Given the description of an element on the screen output the (x, y) to click on. 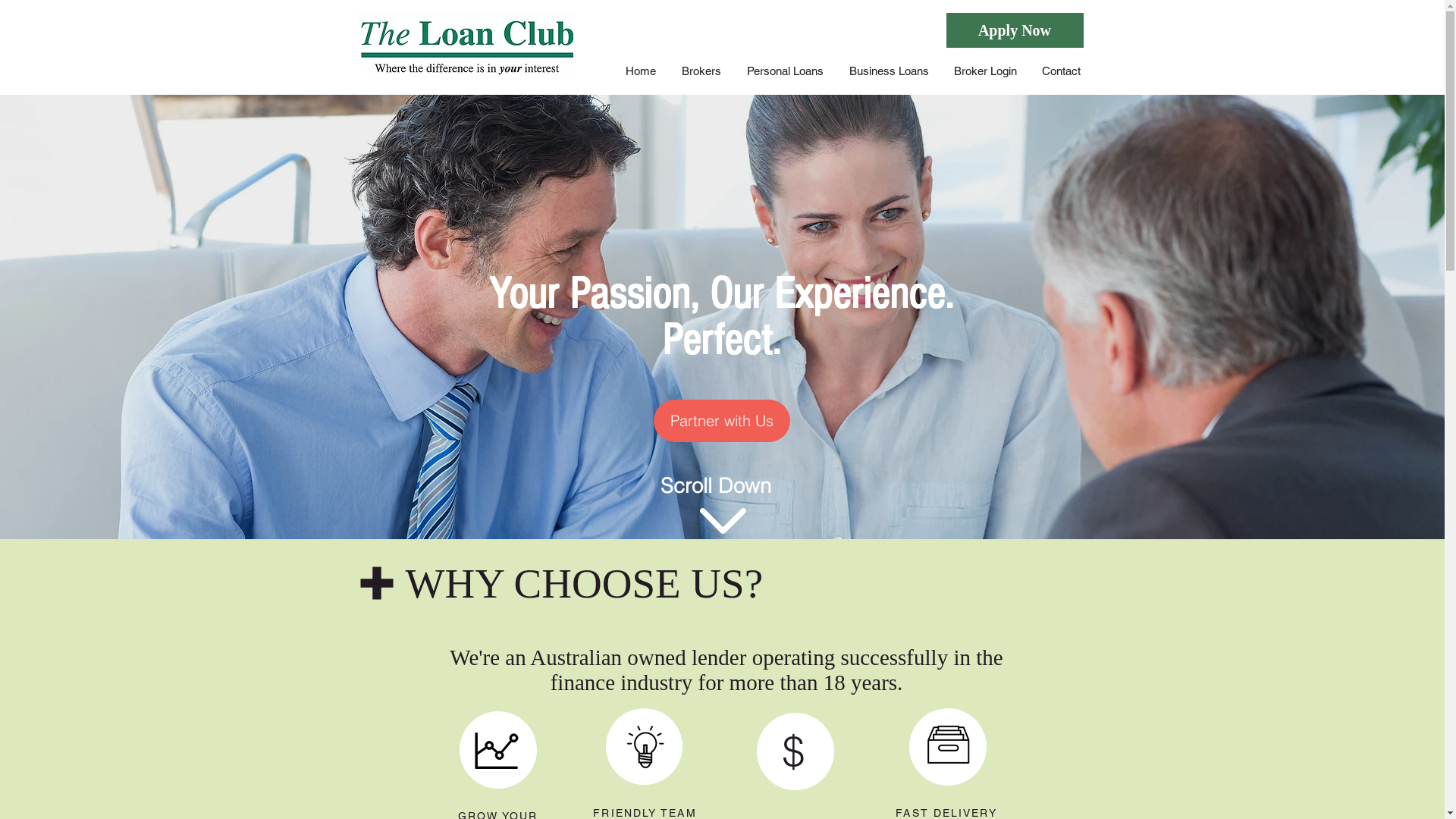
Broker Login Element type: text (985, 70)
Partner with Us Element type: text (721, 420)
Brokers Element type: text (701, 70)
Apply Now Element type: text (1014, 29)
Paper-01.png Element type: hover (645, 746)
THE-LOAN-CLUB_RGB.jpg Element type: hover (466, 46)
Paper-04.png Element type: hover (947, 742)
Business Loans Element type: text (888, 70)
Contact Element type: text (1061, 70)
Home Element type: text (640, 70)
Personal Loans Element type: text (785, 70)
